Given the description of an element on the screen output the (x, y) to click on. 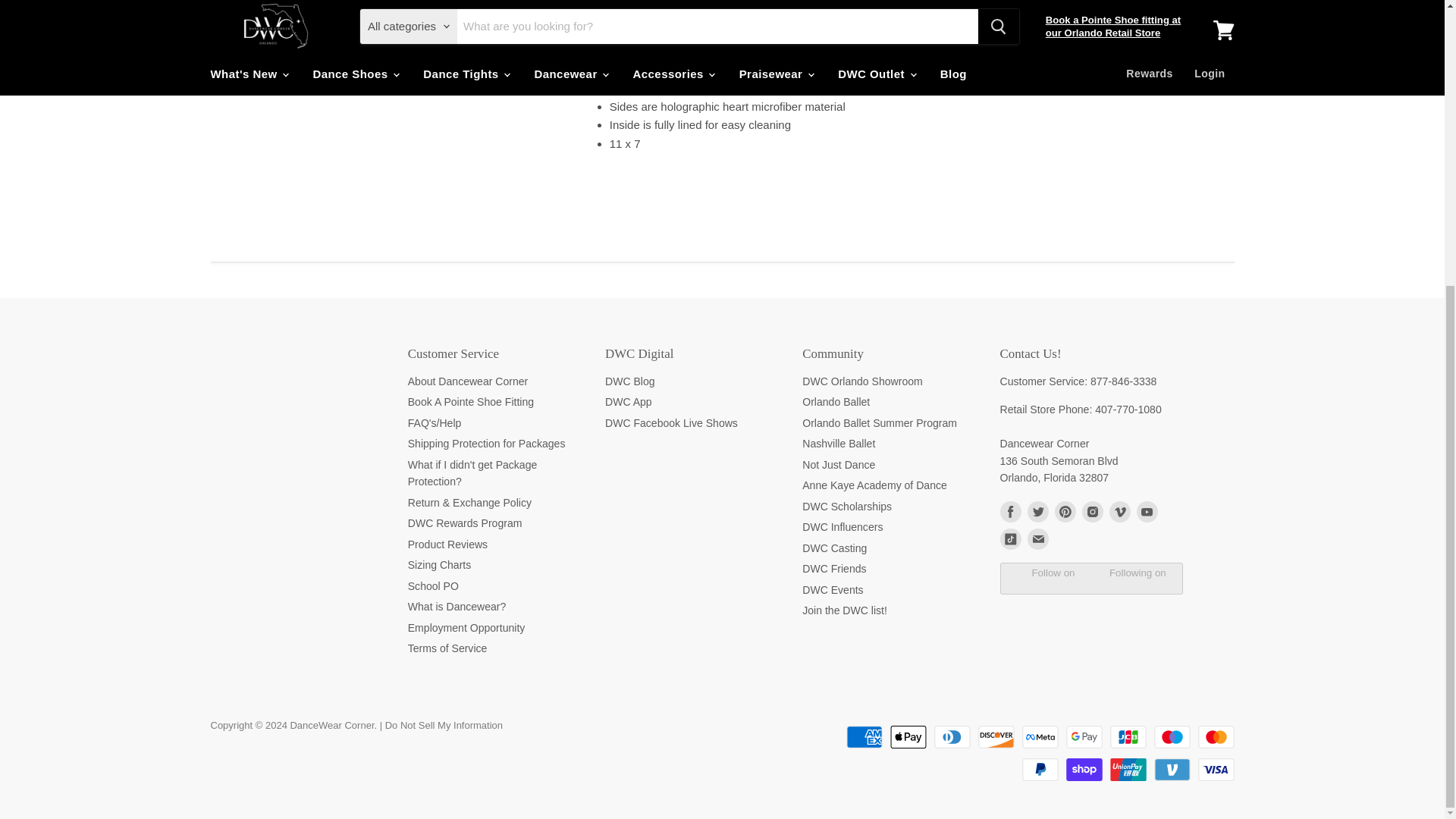
Twitter (1037, 511)
Pinterest (1064, 511)
Youtube (1146, 511)
TikTok (1009, 538)
Email (1037, 538)
Instagram (1091, 511)
Facebook (1009, 511)
Vimeo (1118, 511)
